Given the description of an element on the screen output the (x, y) to click on. 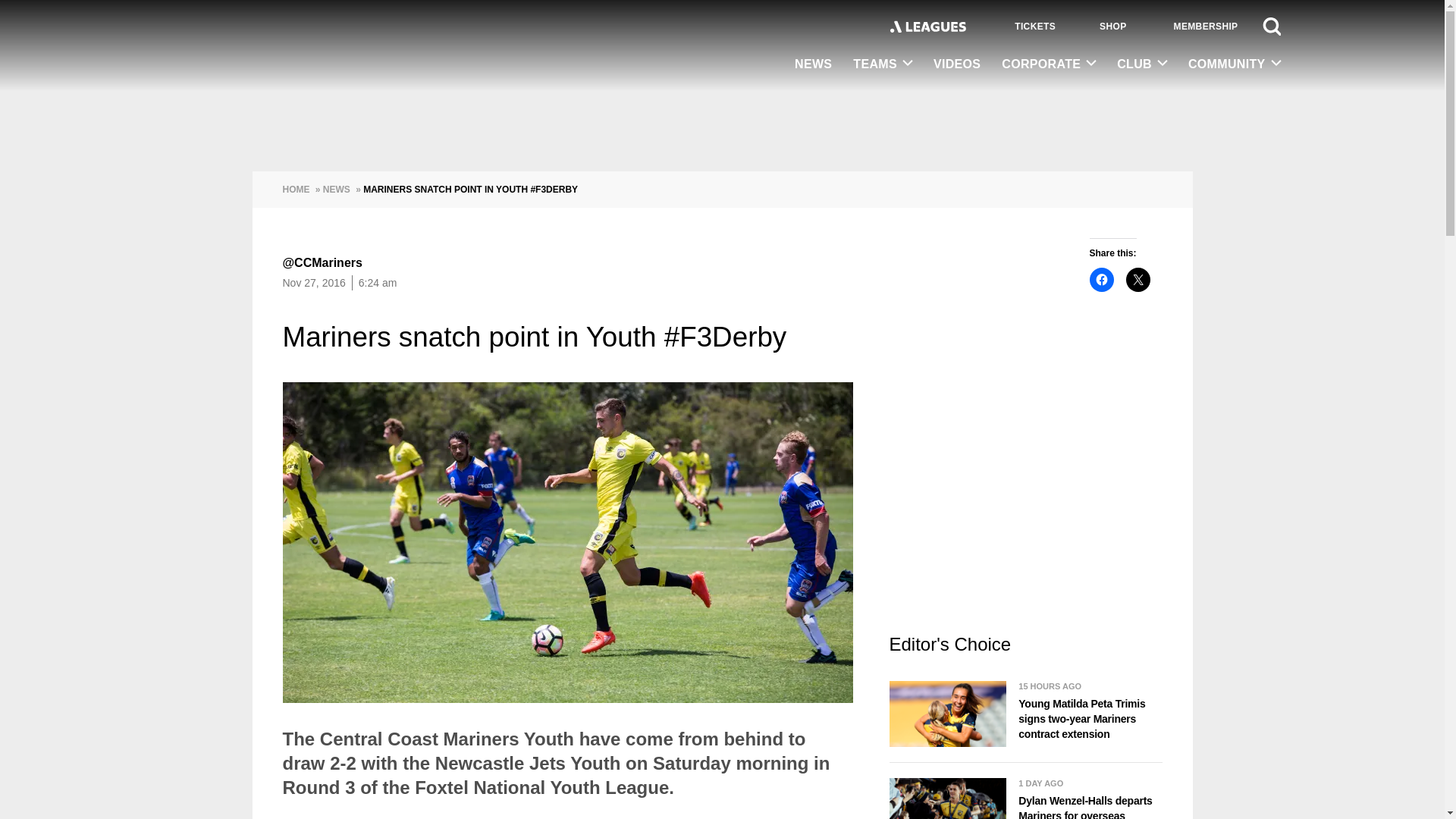
TEAMS (883, 64)
CLUB (1141, 64)
CORPORATE (1048, 64)
VIDEOS (957, 65)
NEWS (813, 65)
